Given the description of an element on the screen output the (x, y) to click on. 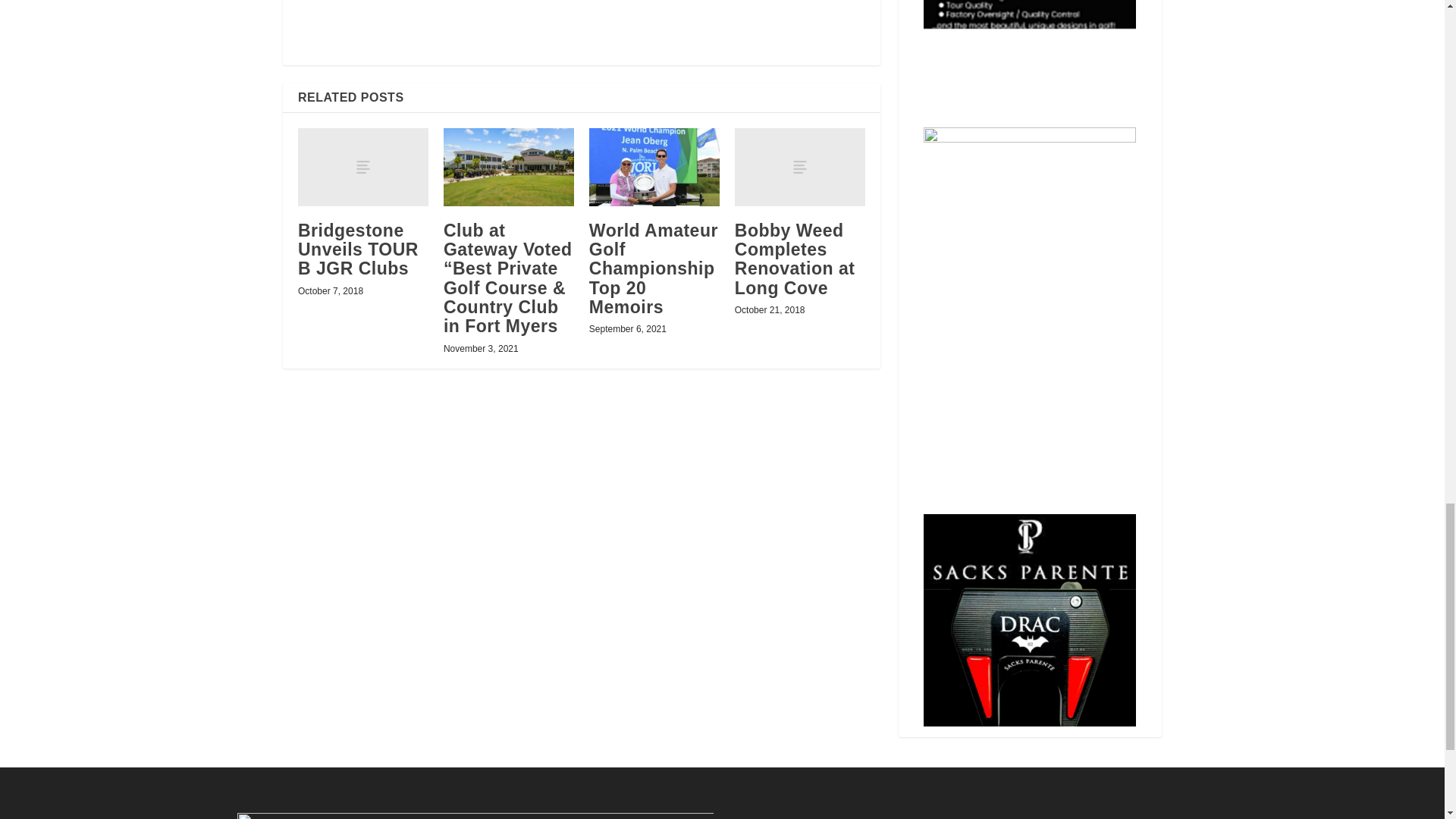
Bridgestone Unveils TOUR B JGR Clubs (363, 166)
Bobby Weed Completes Renovation at Long Cove (799, 166)
World Amateur Golf Championship Top 20 Memoirs (654, 166)
